Given the description of an element on the screen output the (x, y) to click on. 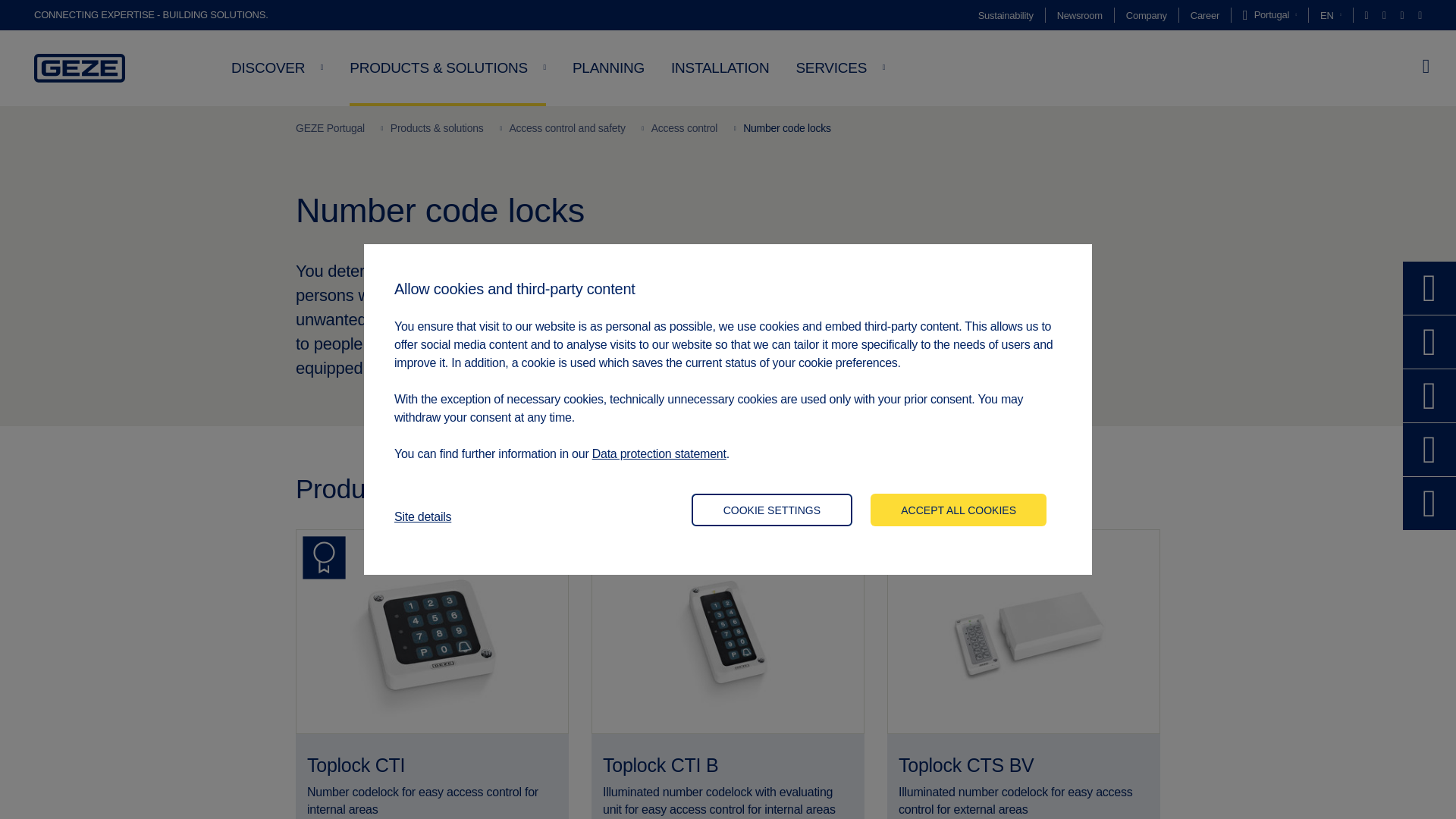
Sustainability (1005, 15)
Portugal (1270, 15)
Company (1146, 15)
Newsroom (1079, 15)
Newsroom (1079, 15)
Career (1205, 15)
Sustainability (1005, 15)
Company (1146, 15)
Career (1205, 15)
